Given the description of an element on the screen output the (x, y) to click on. 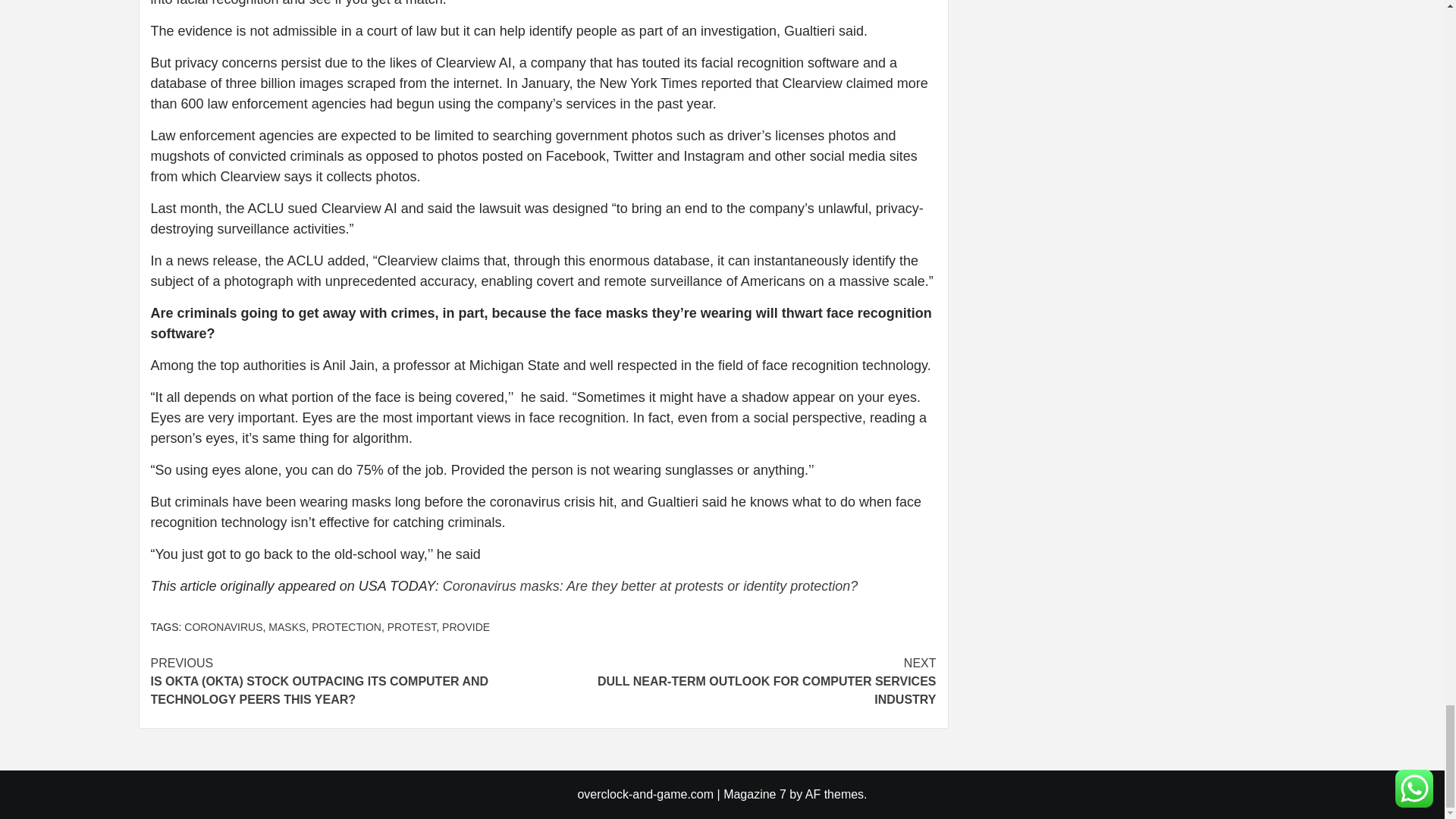
CORONAVIRUS (223, 626)
PROVIDE (465, 626)
PROTEST (739, 681)
PROTECTION (411, 626)
MASKS (346, 626)
